Given the description of an element on the screen output the (x, y) to click on. 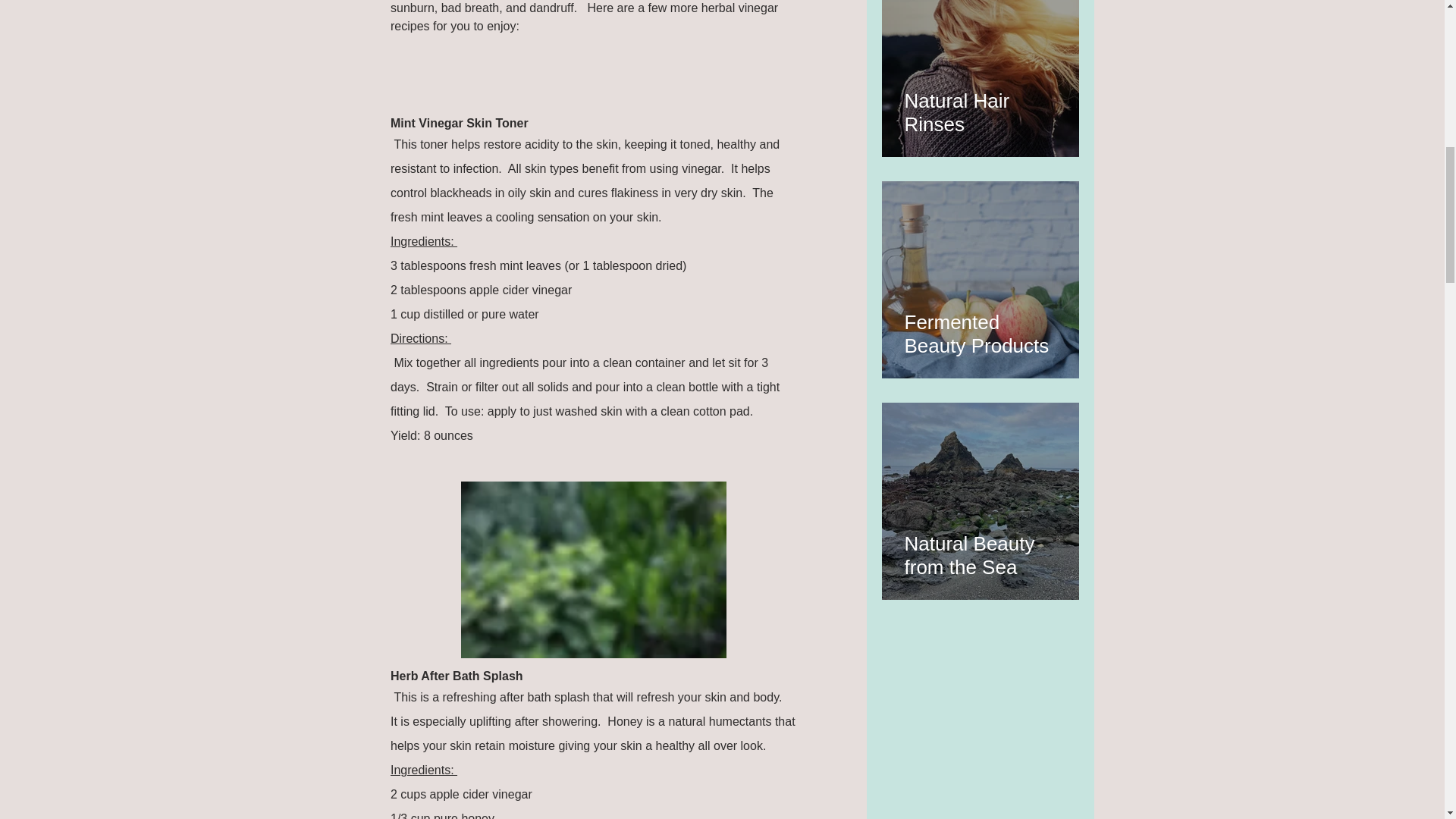
Fermented Beauty Products (979, 327)
Natural Beauty from the Sea (979, 548)
Natural Hair Rinses (979, 106)
